Given the description of an element on the screen output the (x, y) to click on. 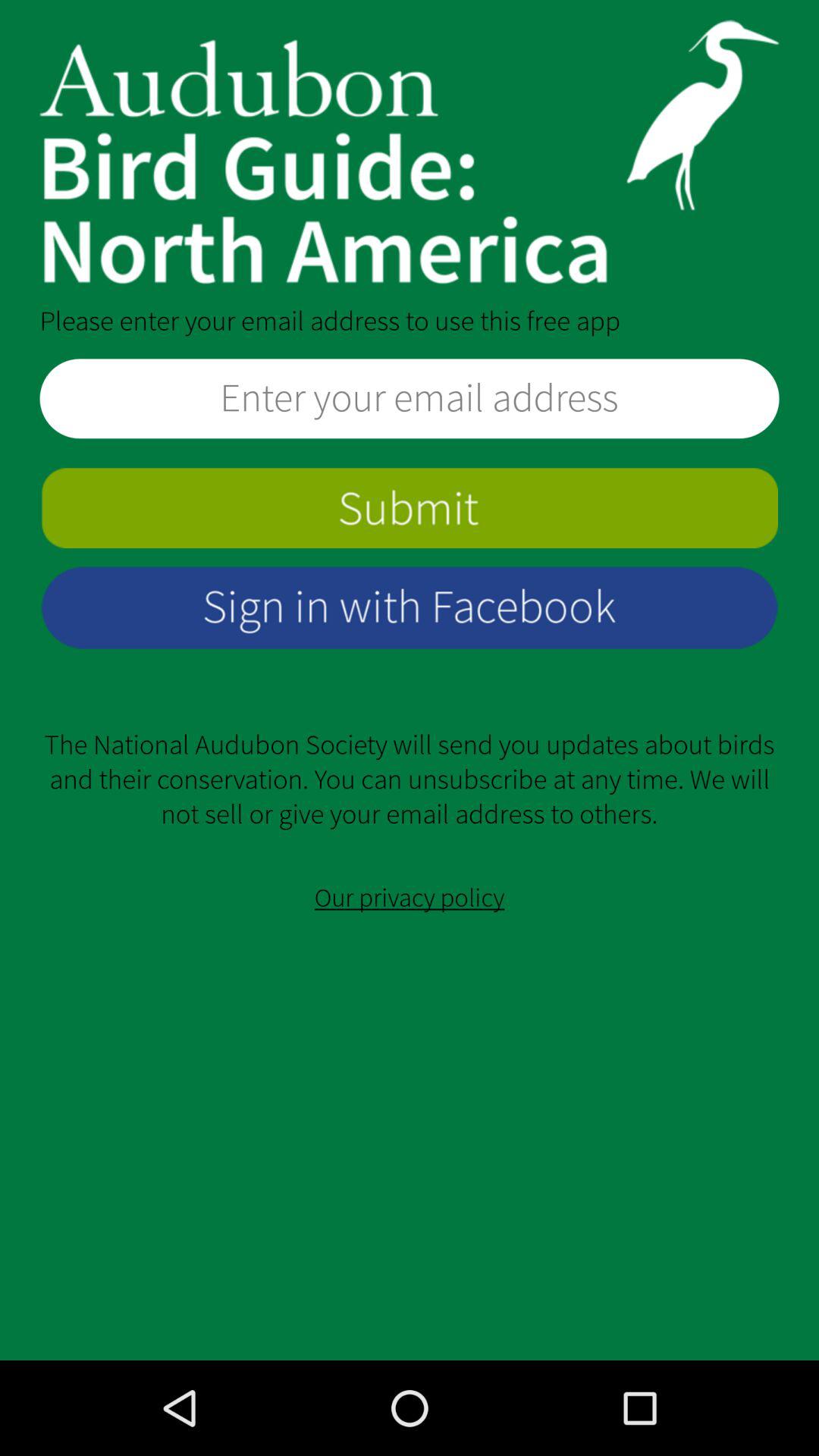
sign in (409, 607)
